Given the description of an element on the screen output the (x, y) to click on. 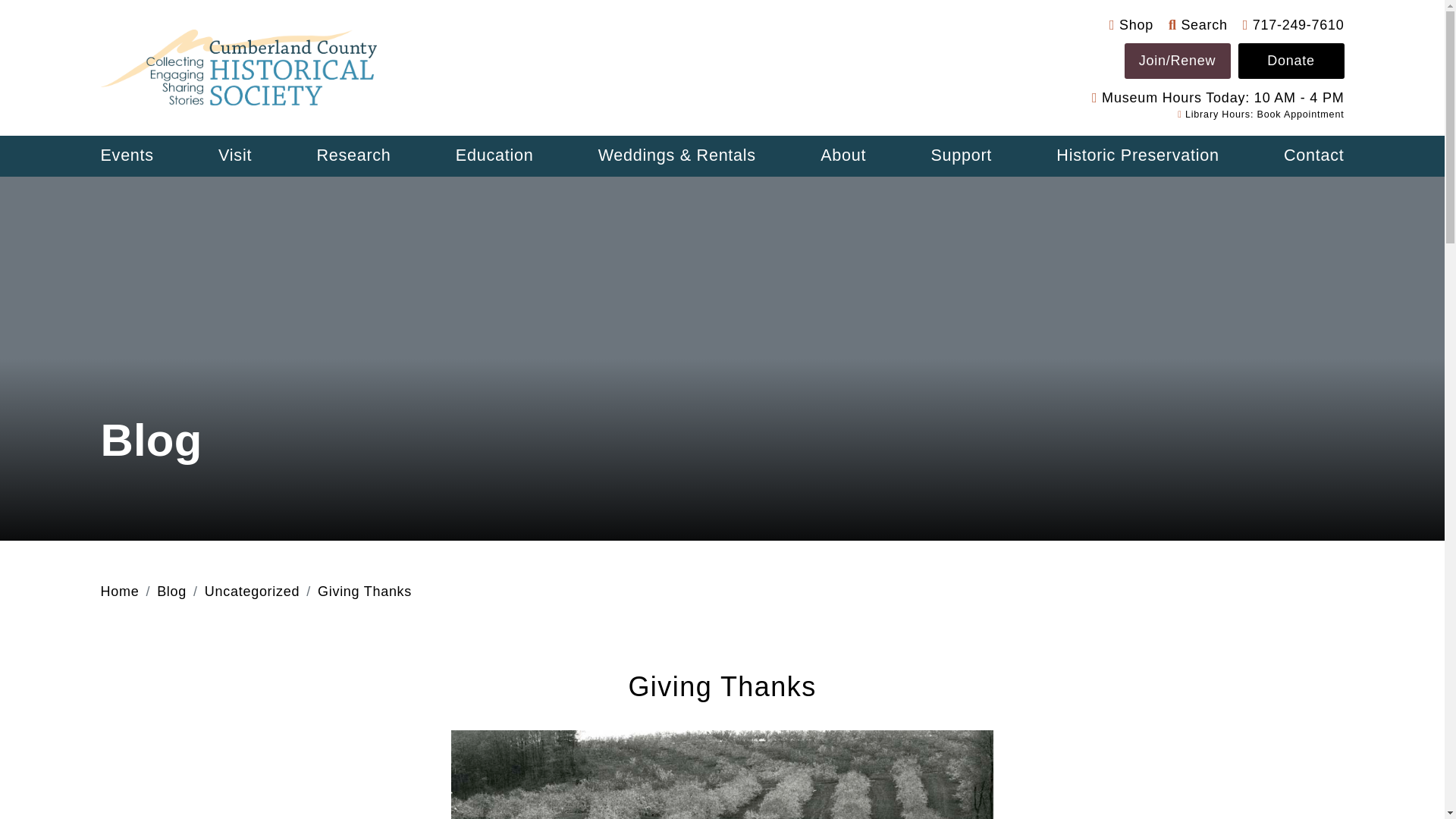
Uncategorized (252, 590)
Education (494, 155)
Research (352, 155)
Events (126, 155)
Donate (1290, 60)
717-249-7610 (1293, 24)
Library Hours: Book Appointment (1260, 113)
Blog (171, 590)
Shop (1131, 24)
Home (119, 590)
